Given the description of an element on the screen output the (x, y) to click on. 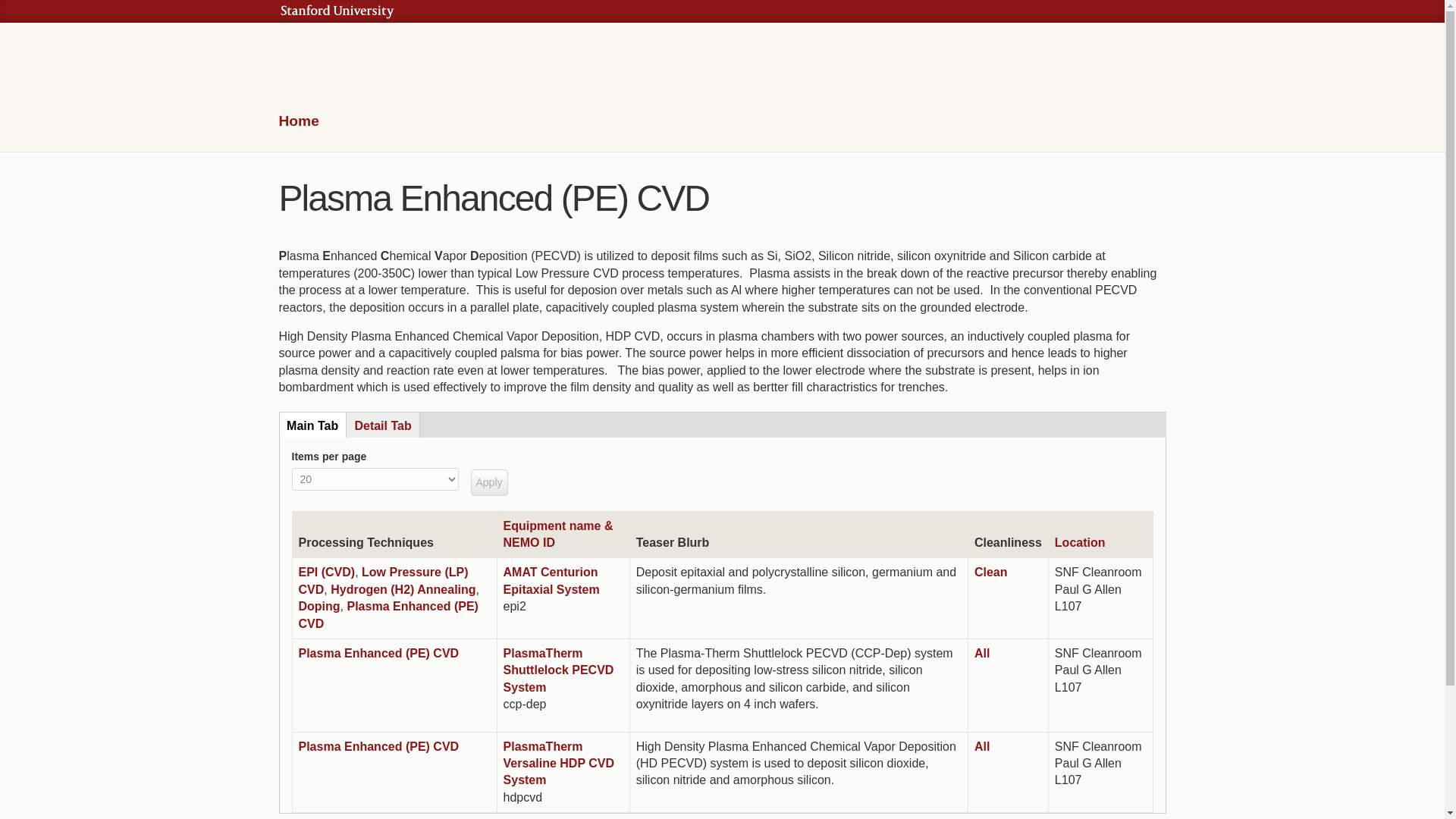
Location (1079, 542)
Clean (990, 571)
PlasmaTherm Shuttlelock PECVD System (558, 670)
Apply (488, 482)
AMAT Centurion Epitaxial System (551, 580)
Apply (488, 482)
All (982, 653)
Detail Tab (383, 424)
